Given the description of an element on the screen output the (x, y) to click on. 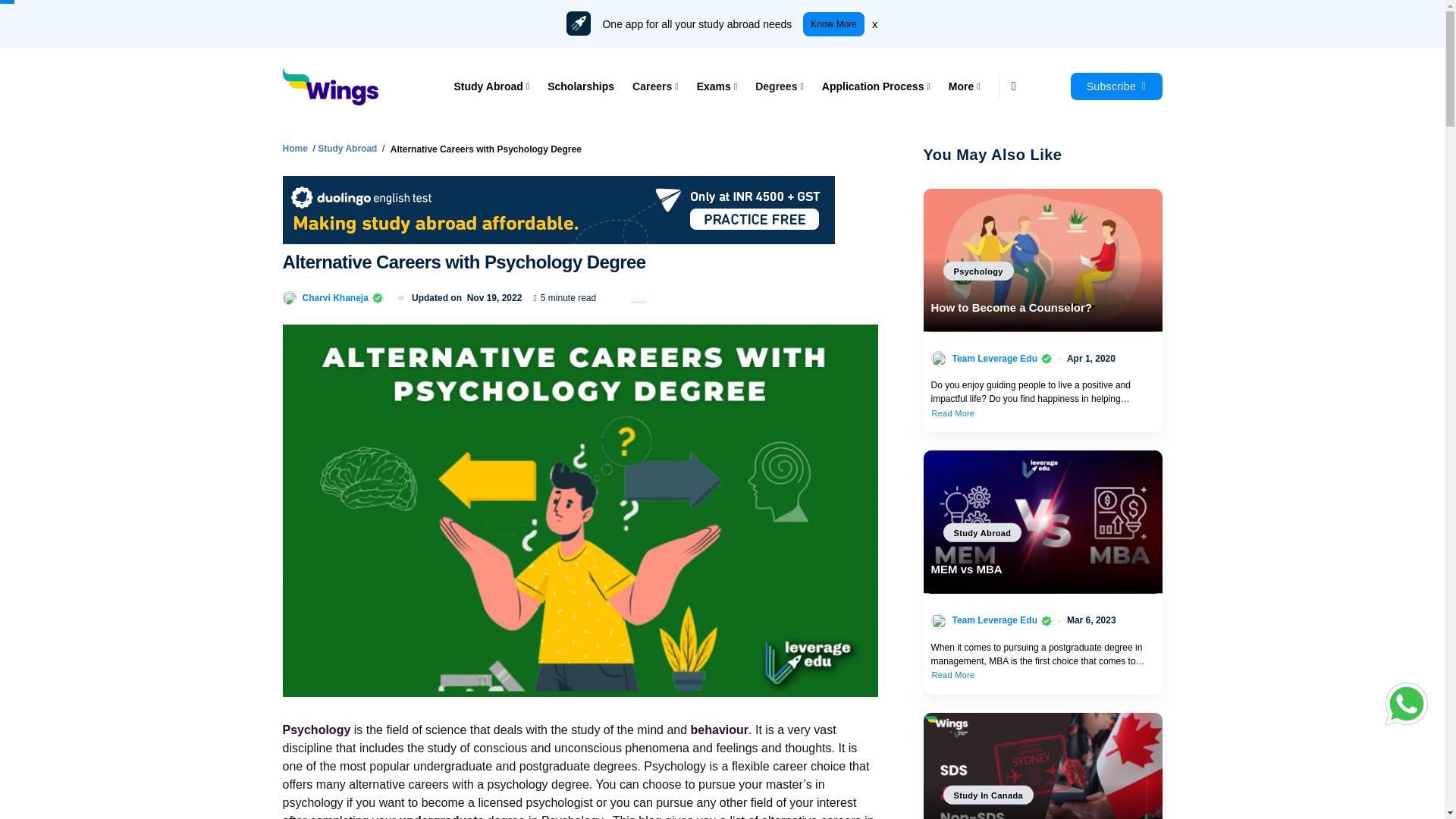
View all posts by Charvi Khaneja (334, 297)
View all posts by Team Leverage Edu (995, 358)
View all posts by Team Leverage Edu (995, 620)
